Given the description of an element on the screen output the (x, y) to click on. 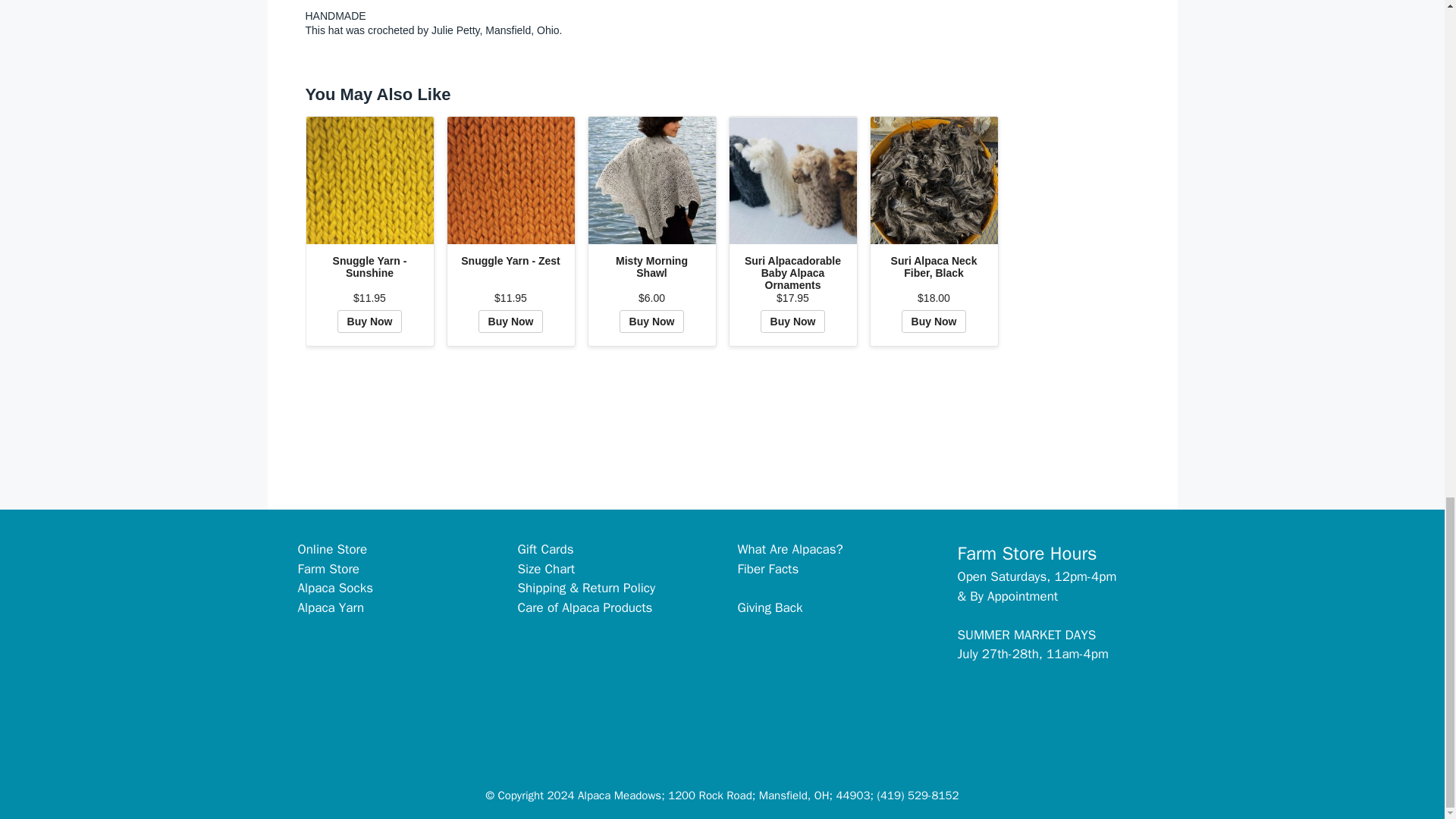
Snuggle Yarn - Sunshine (369, 180)
